Given the description of an element on the screen output the (x, y) to click on. 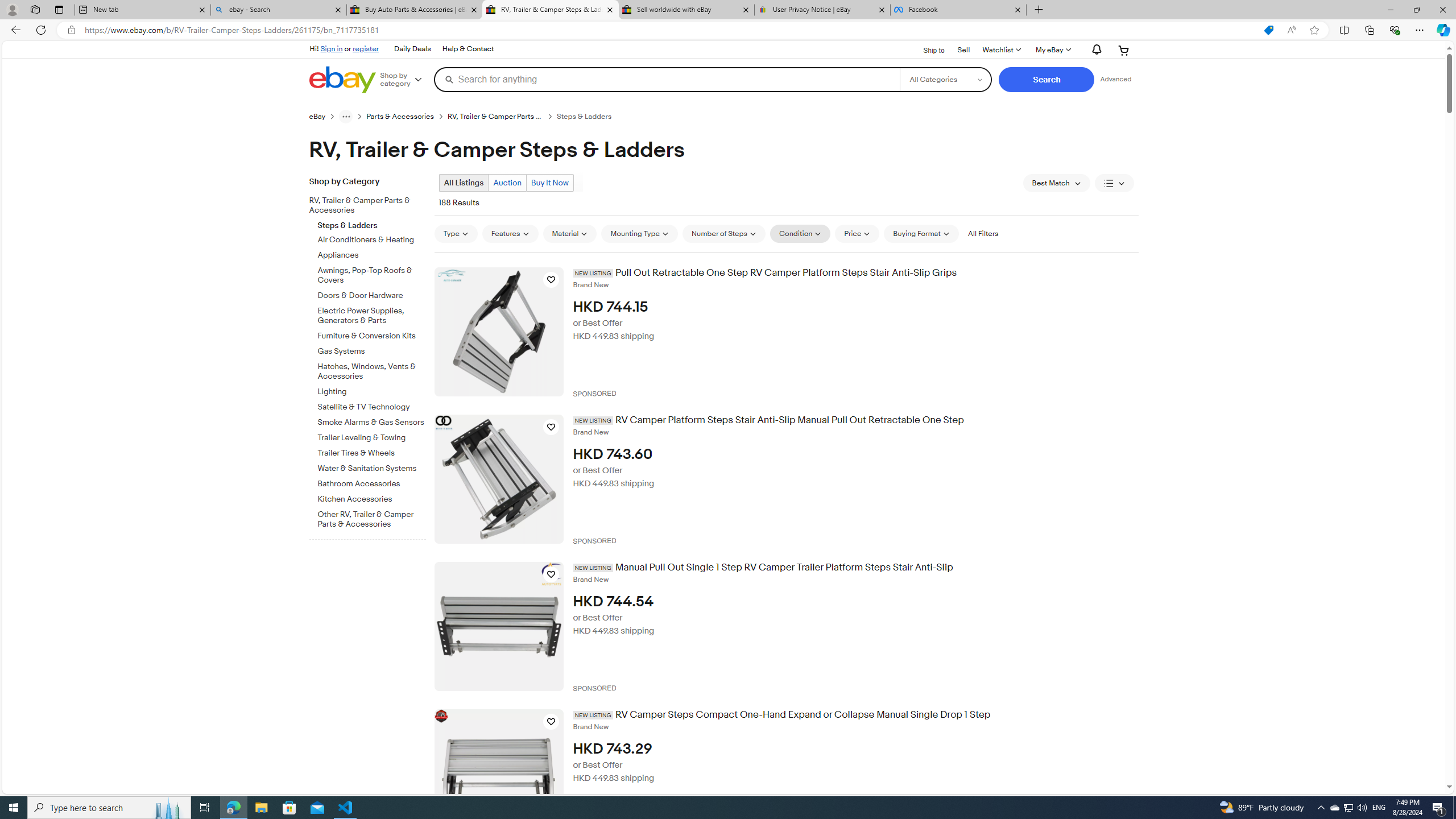
Help & Contact (467, 49)
Ship to (926, 50)
Buy It Now (549, 182)
Auction (506, 182)
Select a category for search (945, 78)
Mounting Type (639, 233)
Buying Format (921, 233)
Lighting (371, 389)
Doors & Door Hardware (371, 293)
Buying Format (921, 233)
Gas Systems (371, 349)
All Filters (982, 233)
